Given the description of an element on the screen output the (x, y) to click on. 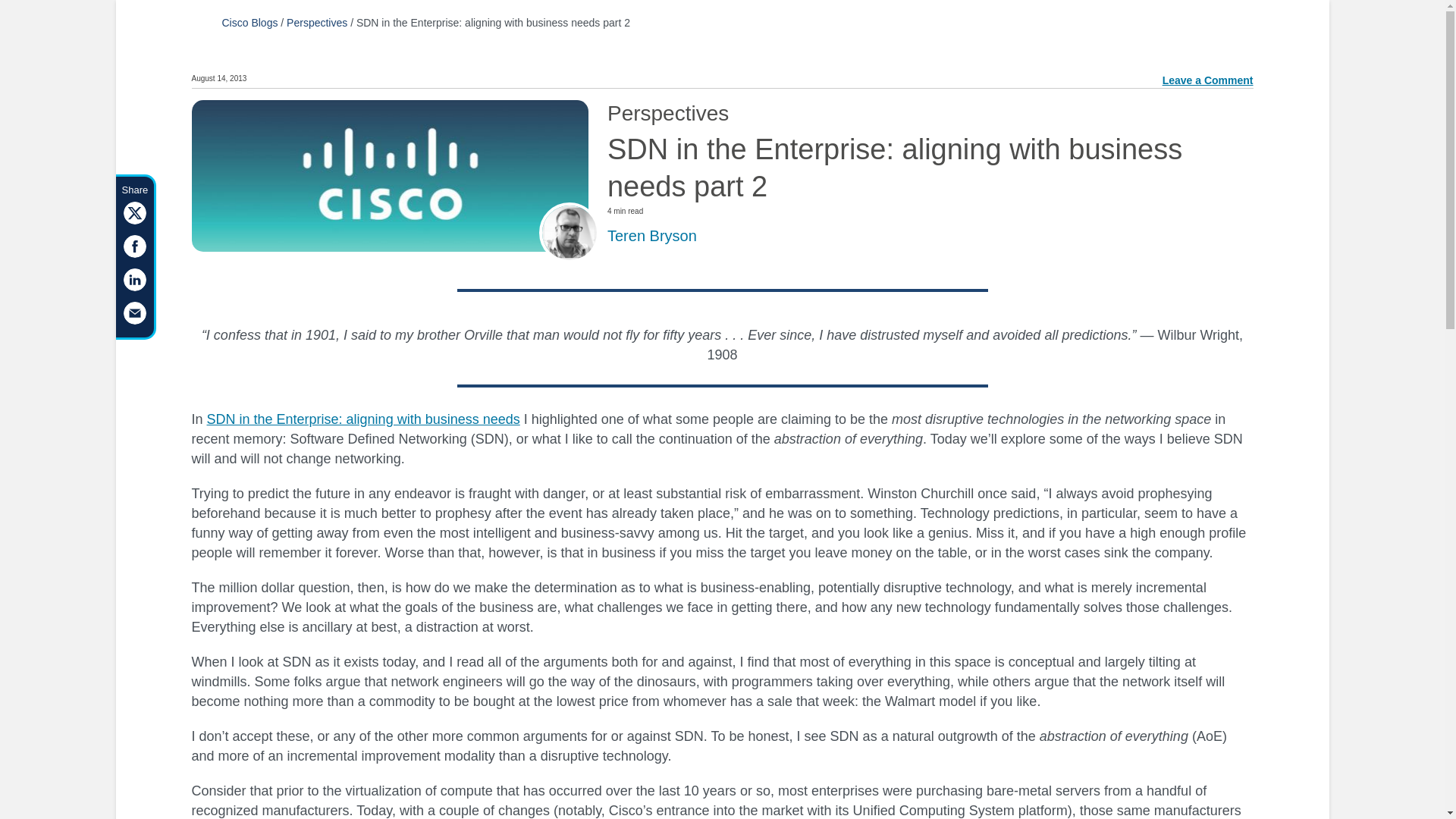
Cisco Blogs (249, 22)
Perspectives (316, 22)
Teren Bryson (652, 235)
SDN in the Enterprise: aligning with business needs (362, 418)
Posts by Teren Bryson (652, 235)
